Given the description of an element on the screen output the (x, y) to click on. 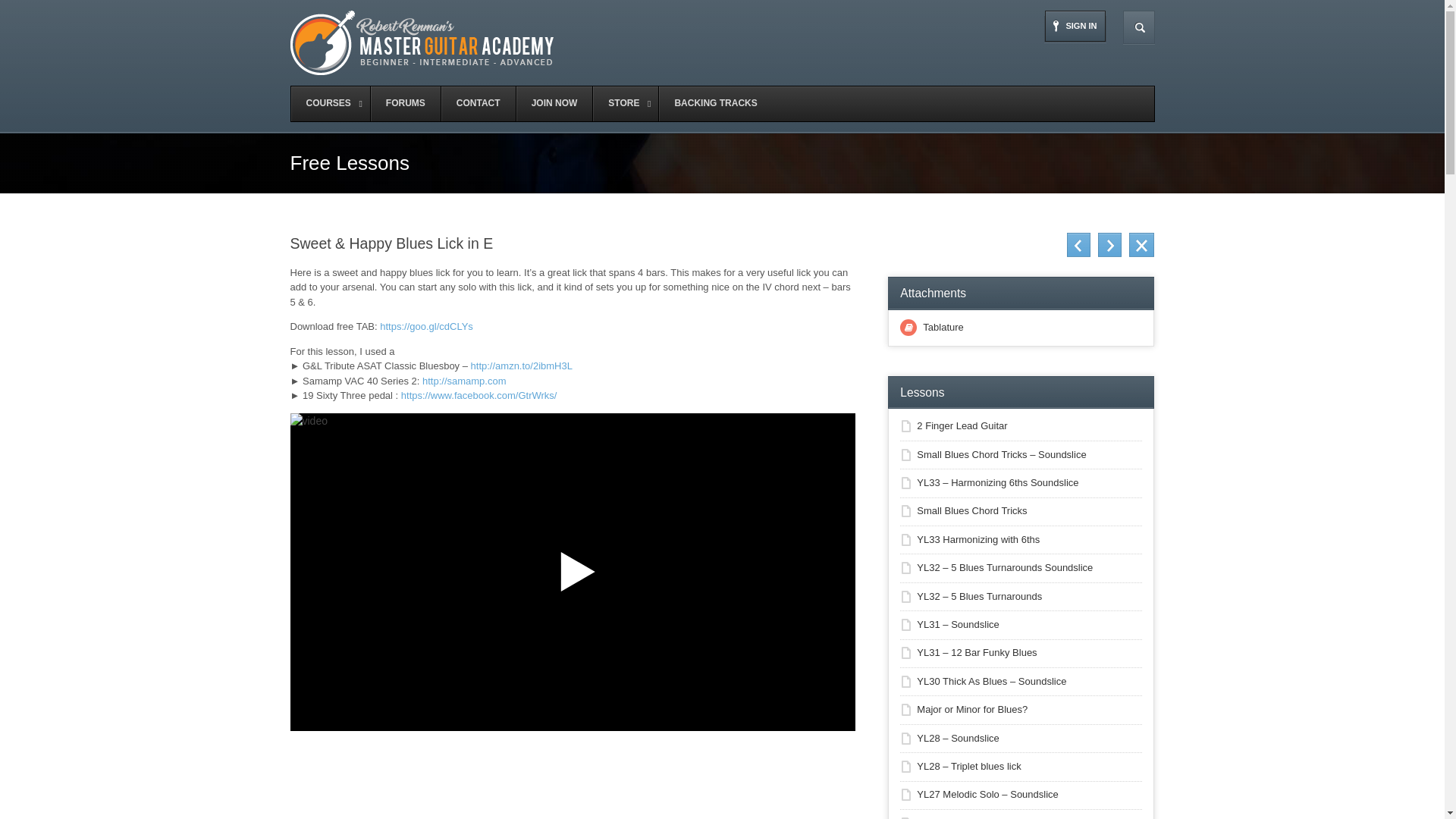
Previous Lesson (1078, 244)
Next Lesson (1109, 244)
Close Lesson (1141, 244)
SIGN IN (1075, 26)
COURSES (330, 103)
